Given the description of an element on the screen output the (x, y) to click on. 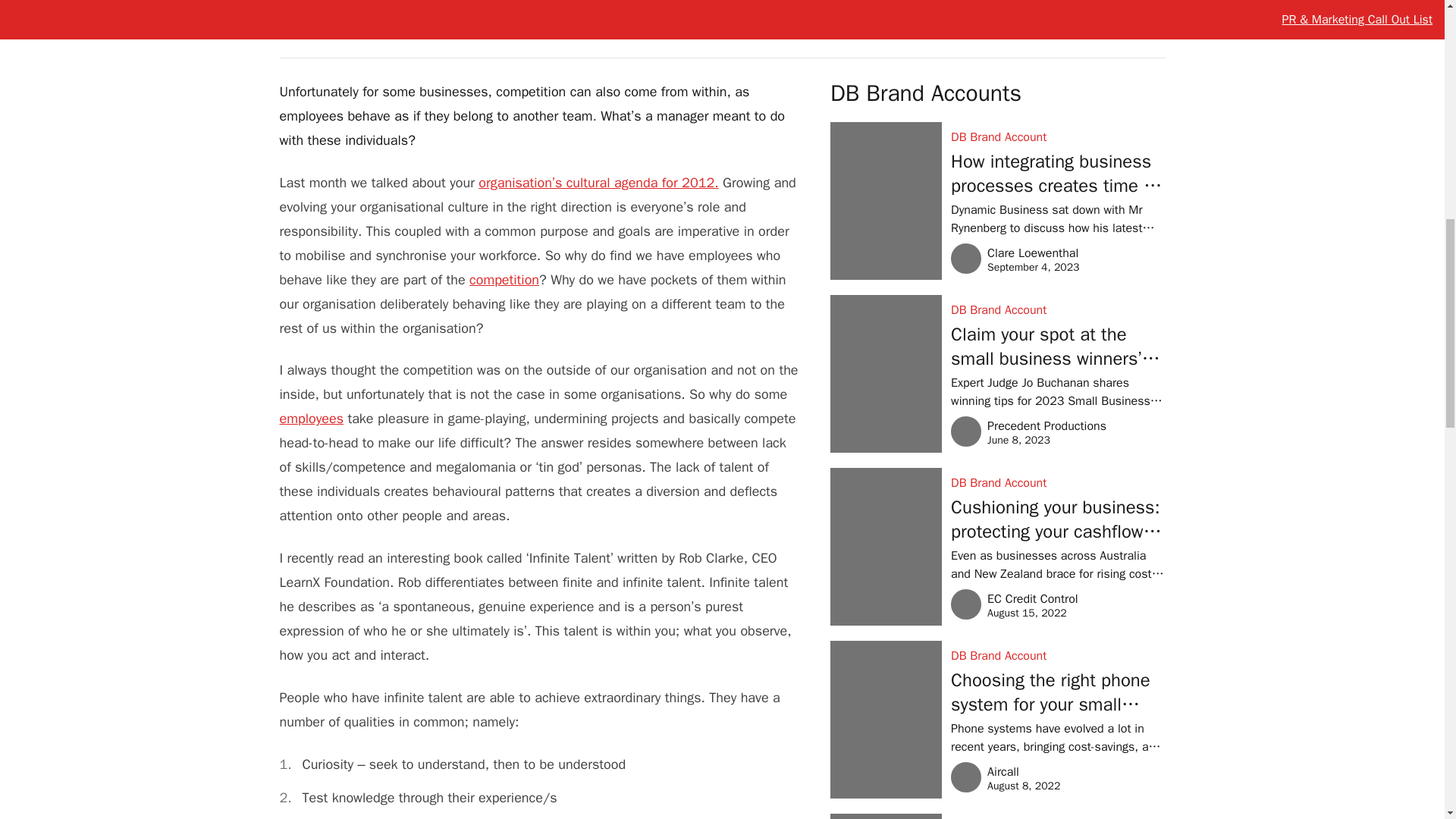
competition (340, 20)
employees (503, 279)
